Given the description of an element on the screen output the (x, y) to click on. 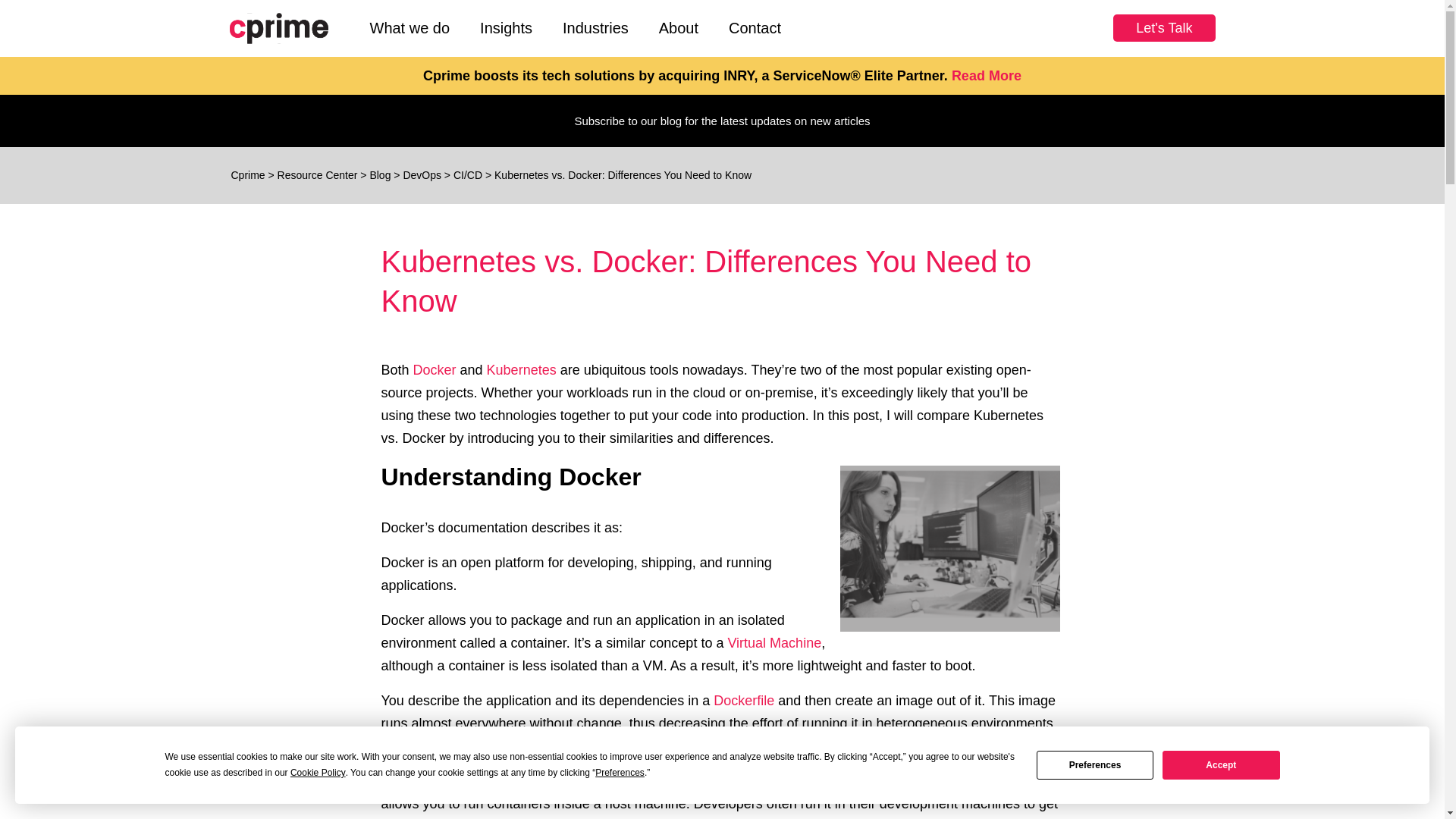
What we do (410, 28)
Insights (505, 28)
Preferences (1094, 764)
Go to Resource Center. (318, 174)
Let's Talk (1163, 27)
Contact (754, 28)
Preferences (620, 772)
Go to Blog. (379, 174)
Industries (595, 28)
Cookie Policy (317, 772)
About (678, 28)
Go to Cprime. (247, 174)
Go to the DevOps category archives. (422, 174)
Accept (1220, 764)
Read More (987, 75)
